Given the description of an element on the screen output the (x, y) to click on. 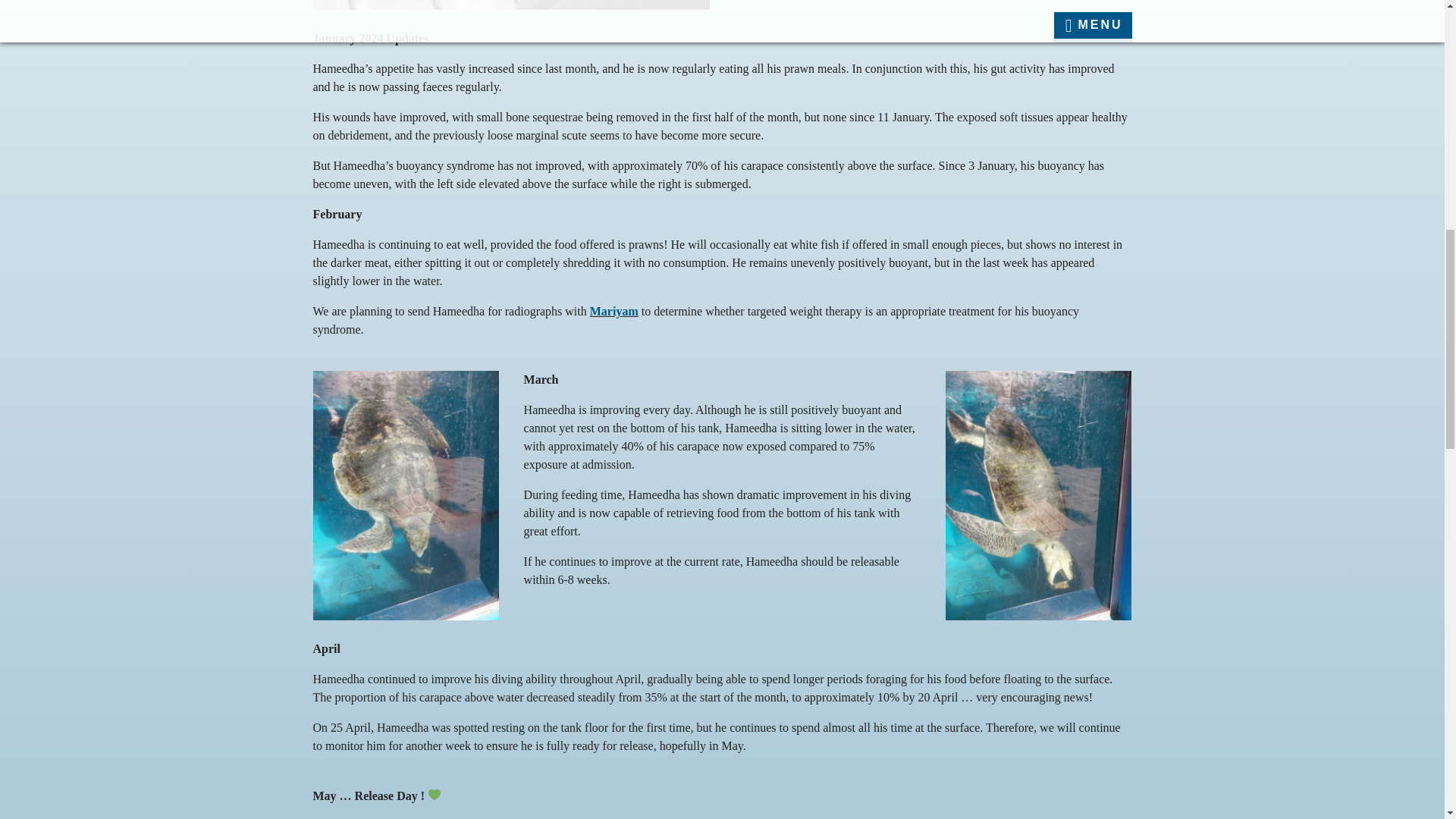
HAMEEDHA olive ridley turtle Maldives (511, 5)
